Given the description of an element on the screen output the (x, y) to click on. 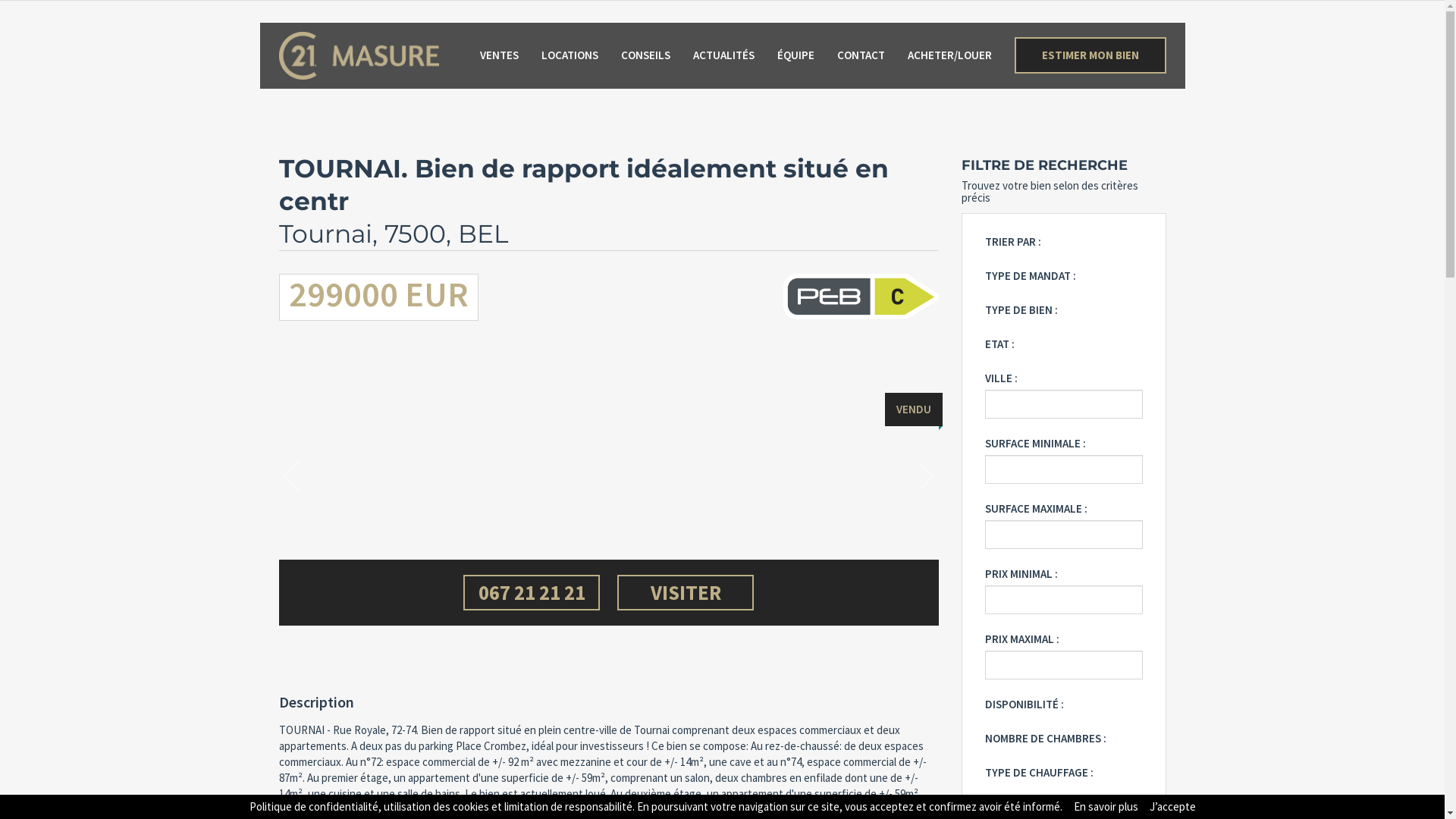
CONTACT Element type: text (860, 55)
ACHETER/LOUER Element type: text (948, 55)
VISITER Element type: text (685, 592)
VENTES Element type: text (498, 55)
LOCATIONS Element type: text (569, 55)
067 21 21 21 Element type: text (531, 592)
ESTIMER MON BIEN Element type: text (1090, 55)
En savoir plus Element type: text (1105, 806)
CONSEILS Element type: text (644, 55)
